Given the description of an element on the screen output the (x, y) to click on. 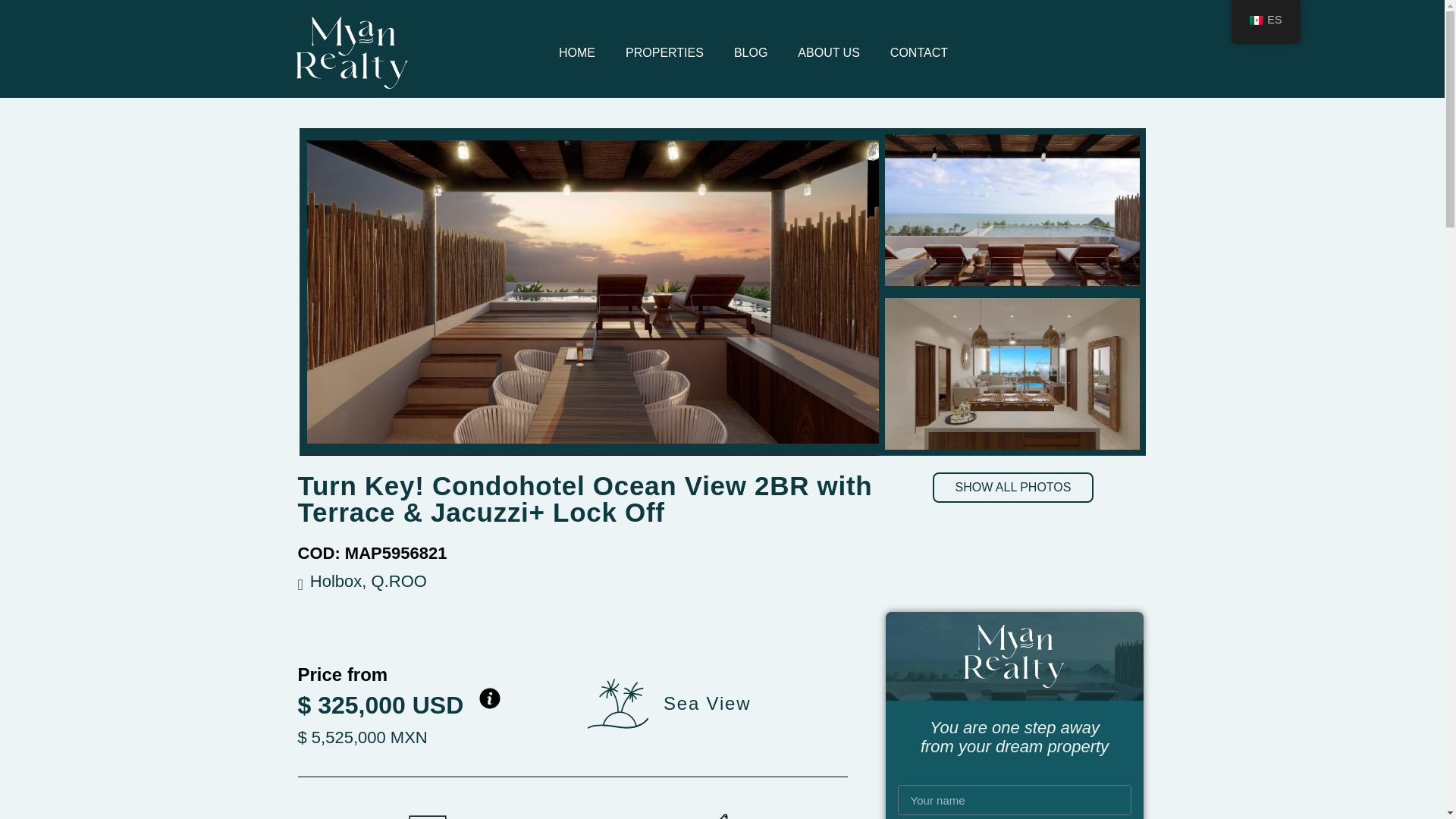
CONTACT (918, 53)
PROPERTIES (664, 53)
SHOW ALL PHOTOS (1013, 487)
ES (1265, 20)
HOME (576, 53)
ABOUT US (829, 53)
BLOG (751, 53)
Spanish (1256, 20)
